Given the description of an element on the screen output the (x, y) to click on. 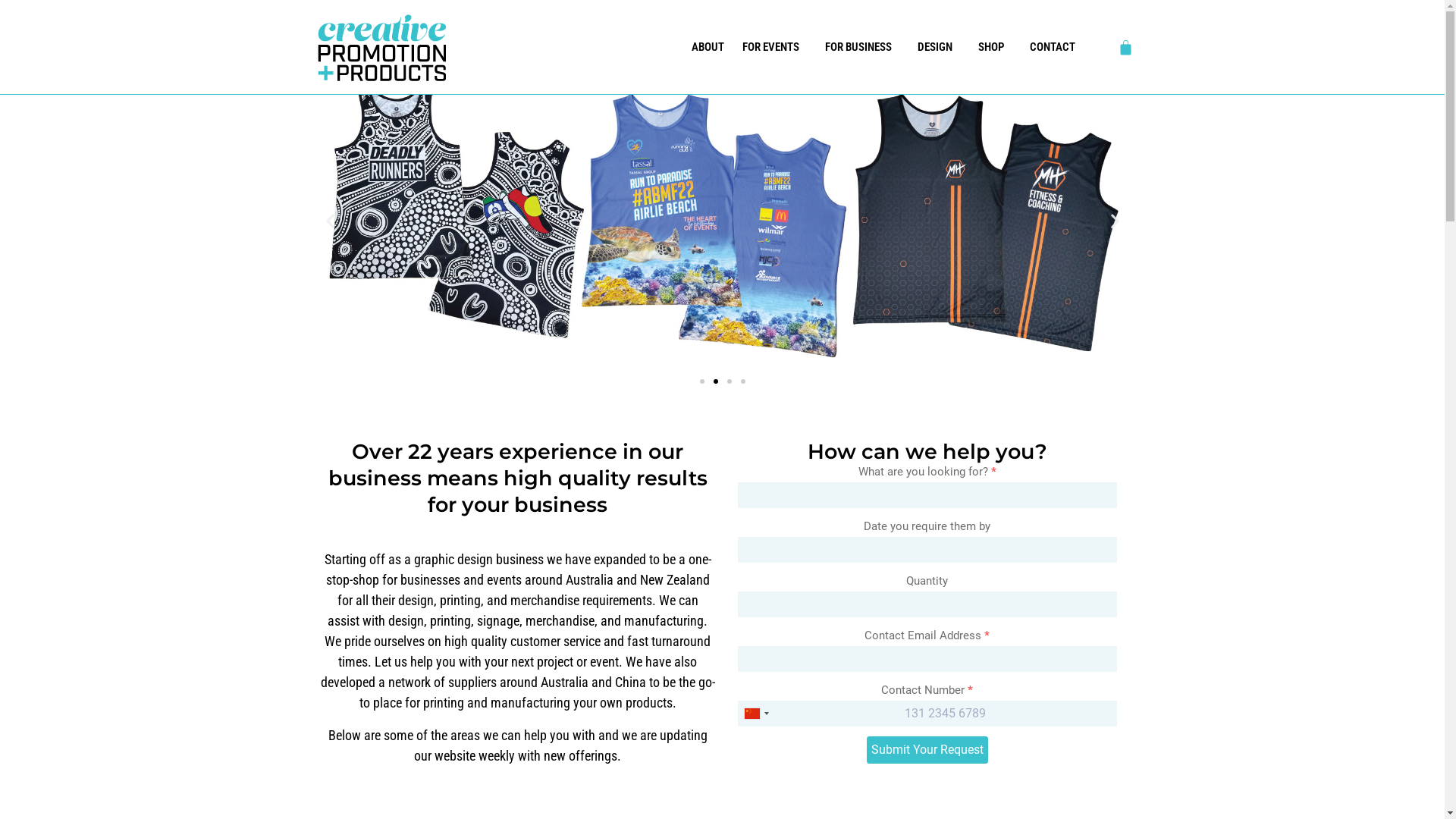
CONTACT Element type: text (1052, 46)
FOR BUSINESS Element type: text (861, 46)
SHOP Element type: text (994, 46)
Submit Your Request Element type: text (926, 749)
ABOUT Element type: text (707, 46)
FOR EVENTS Element type: text (774, 46)
DESIGN Element type: text (938, 46)
